Given the description of an element on the screen output the (x, y) to click on. 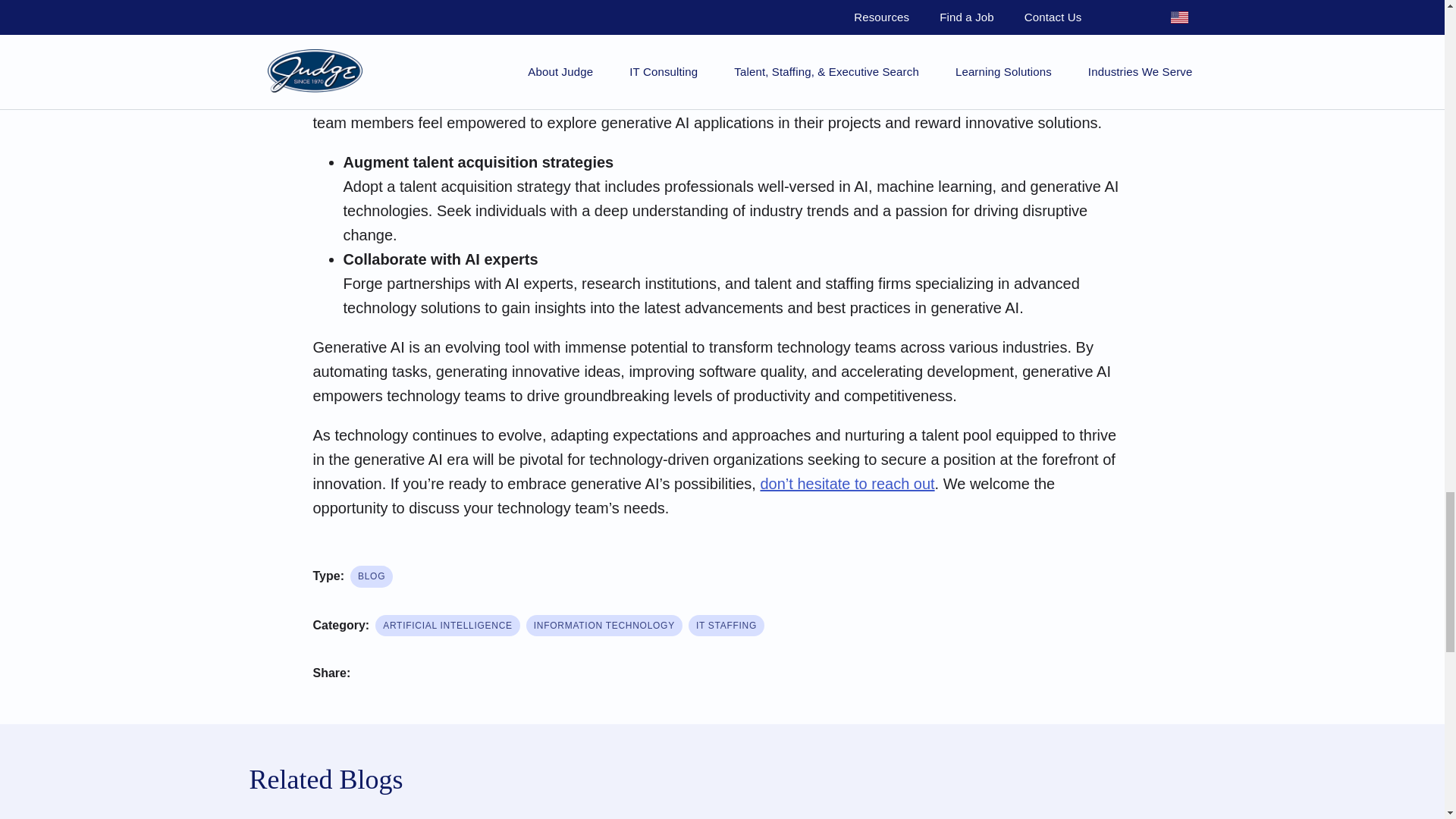
Twitter (419, 674)
Email (510, 674)
Facebook (374, 674)
LinkedIn (465, 674)
